Given the description of an element on the screen output the (x, y) to click on. 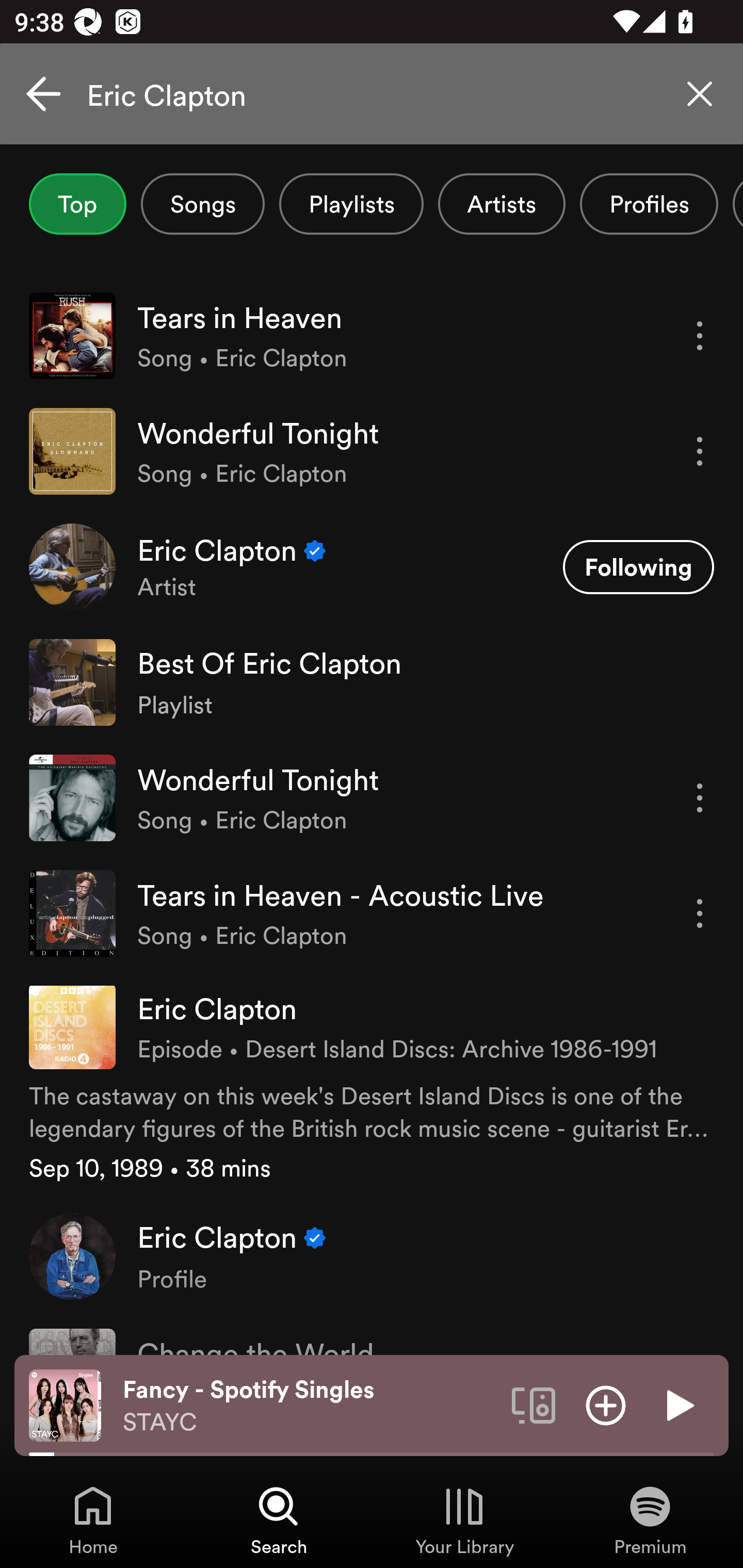
Eric Clapton (371, 93)
Cancel (43, 93)
Clear search query (699, 93)
Top (77, 203)
Songs (202, 203)
Playlists (351, 203)
Artists (501, 203)
Profiles (649, 203)
More options for song Tears in Heaven (699, 336)
More options for song Wonderful Tonight (699, 450)
Eric Clapton Verified Artist Following Unfollow (371, 566)
Following Unfollow (638, 566)
Best Of Eric Clapton Playlist (371, 682)
More options for song Wonderful Tonight (699, 798)
Eric Clapton Verified Profile (371, 1255)
Fancy - Spotify Singles STAYC (309, 1405)
The cover art of the currently playing track (64, 1404)
Connect to a device. Opens the devices menu (533, 1404)
Add item (605, 1404)
Play (677, 1404)
Home, Tab 1 of 4 Home Home (92, 1519)
Search, Tab 2 of 4 Search Search (278, 1519)
Your Library, Tab 3 of 4 Your Library Your Library (464, 1519)
Premium, Tab 4 of 4 Premium Premium (650, 1519)
